Given the description of an element on the screen output the (x, y) to click on. 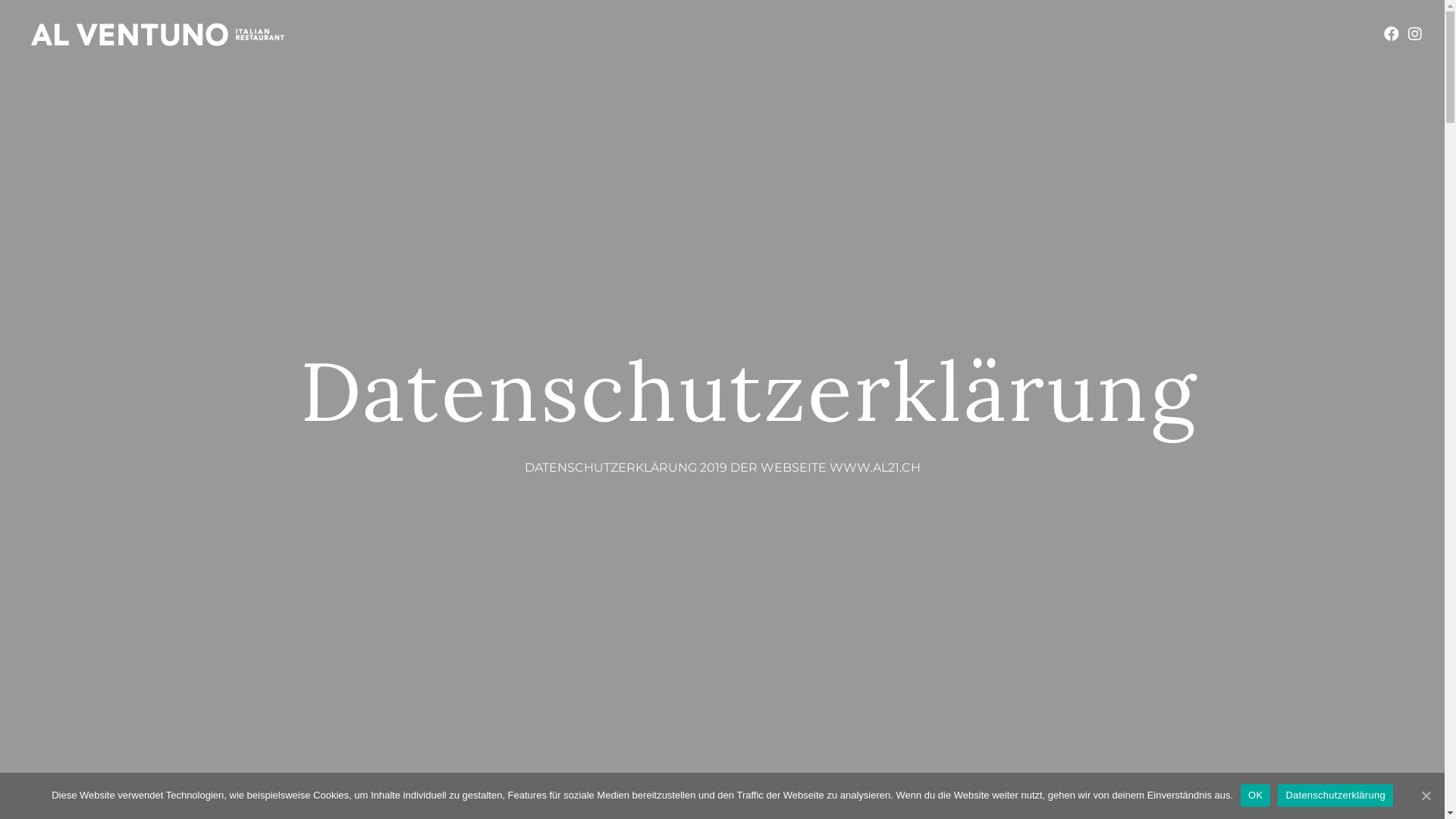
OK Element type: text (1255, 795)
